Given the description of an element on the screen output the (x, y) to click on. 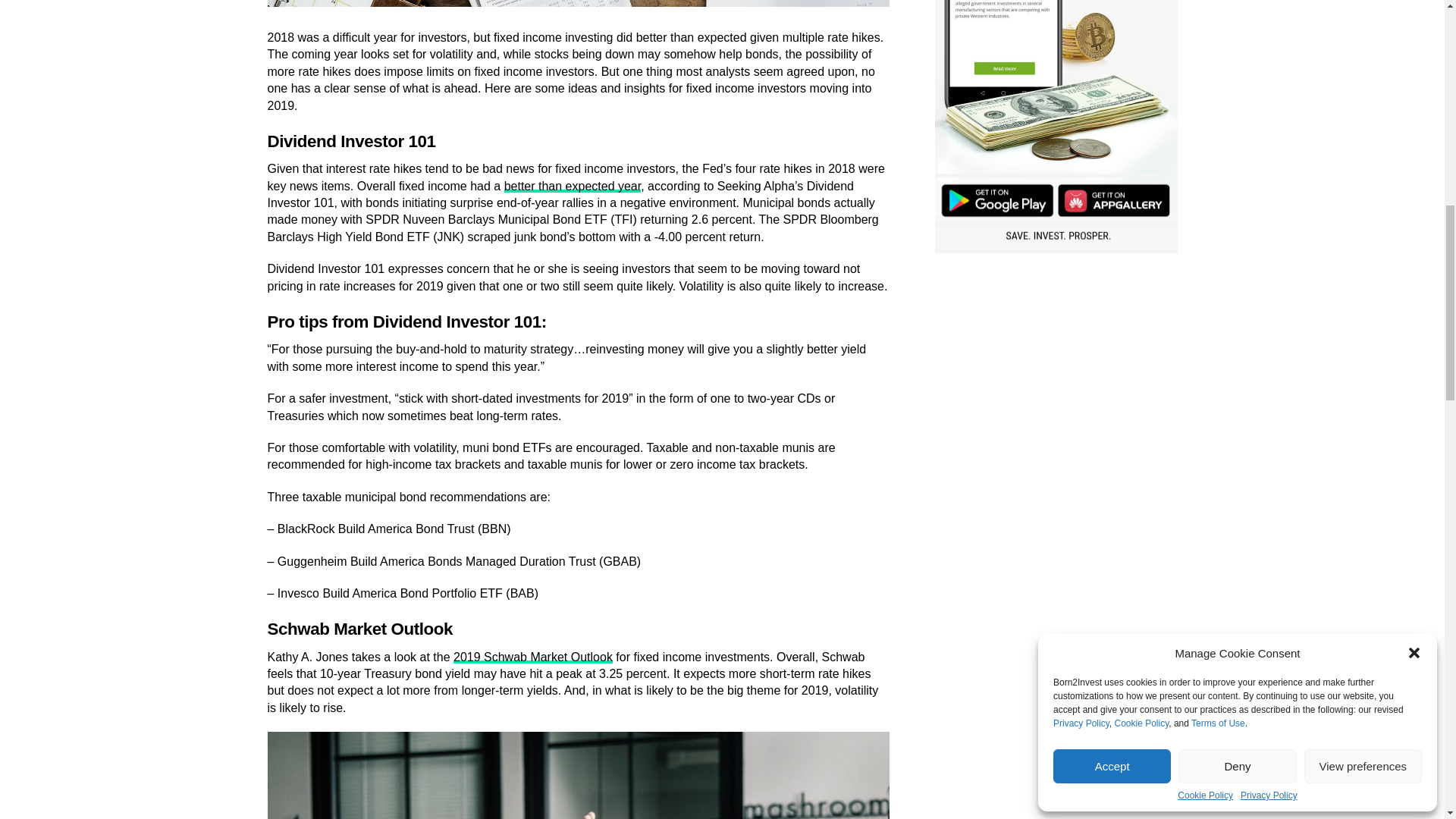
Advertisement (1055, 371)
